Given the description of an element on the screen output the (x, y) to click on. 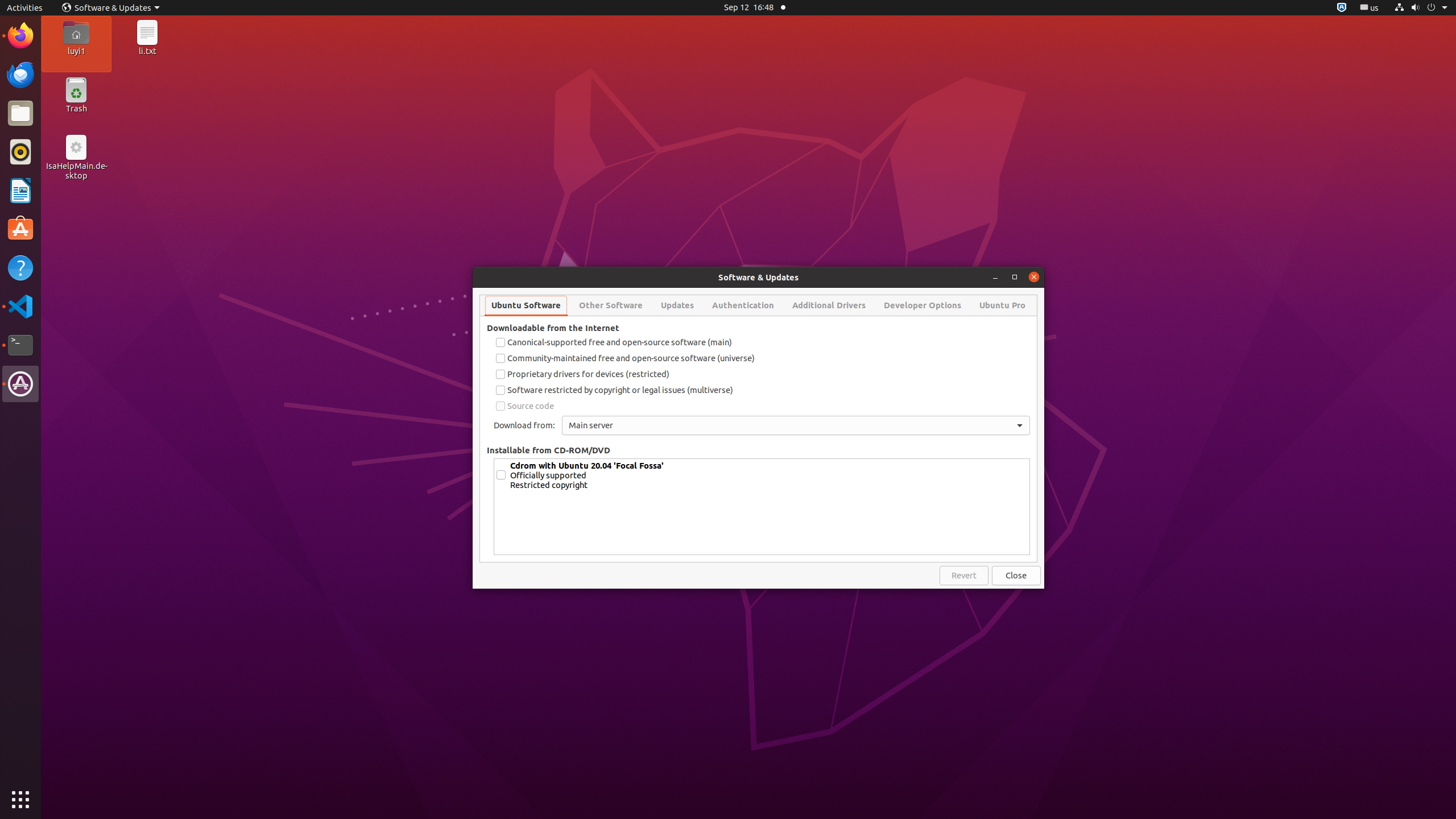
Updates Element type: page-tab (676, 304)
Revert Element type: push-button (963, 575)
Software & Updates Element type: push-button (20, 383)
Software restricted by copyright or legal issues (multiverse) Element type: check-box (761, 389)
